Given the description of an element on the screen output the (x, y) to click on. 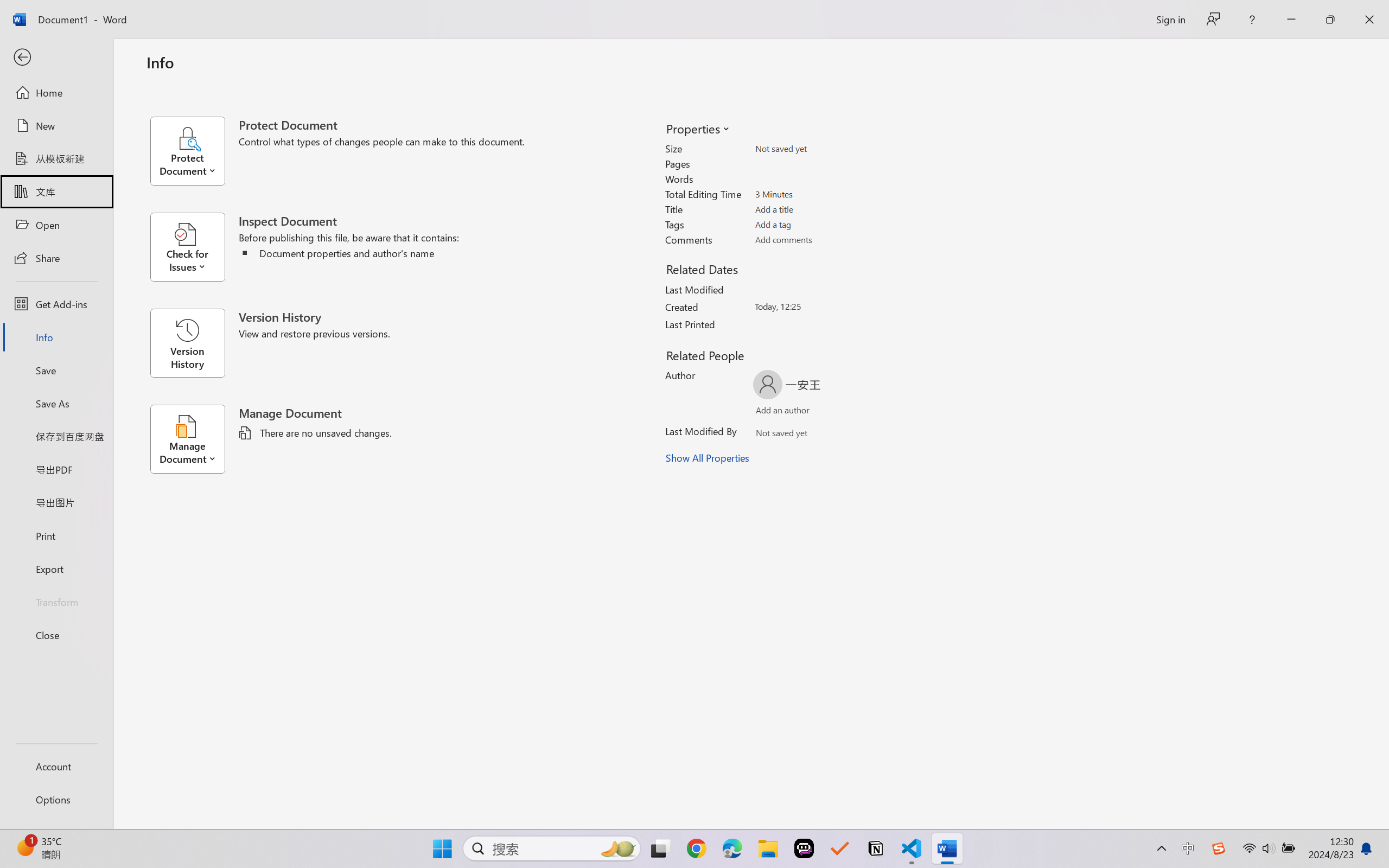
Get Add-ins (56, 303)
Title (818, 209)
Properties (696, 128)
Account (56, 765)
Print (56, 535)
Manage Document (194, 438)
Back (56, 57)
Total Editing Time (818, 193)
